Given the description of an element on the screen output the (x, y) to click on. 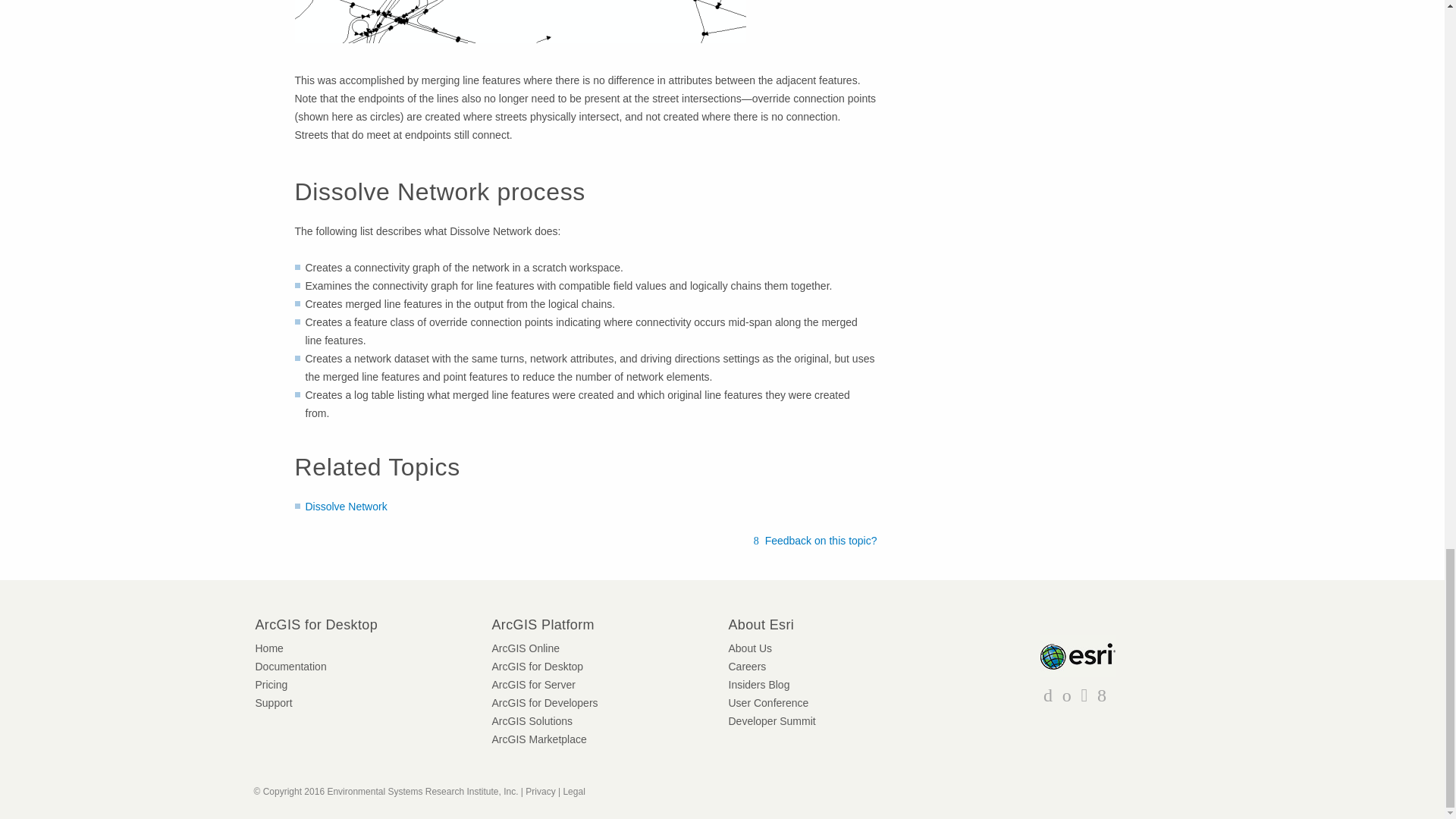
Pricing (270, 684)
Home (268, 648)
Documentation (290, 666)
Feedback on this topic? (815, 540)
Dissolve Network (345, 506)
